Given the description of an element on the screen output the (x, y) to click on. 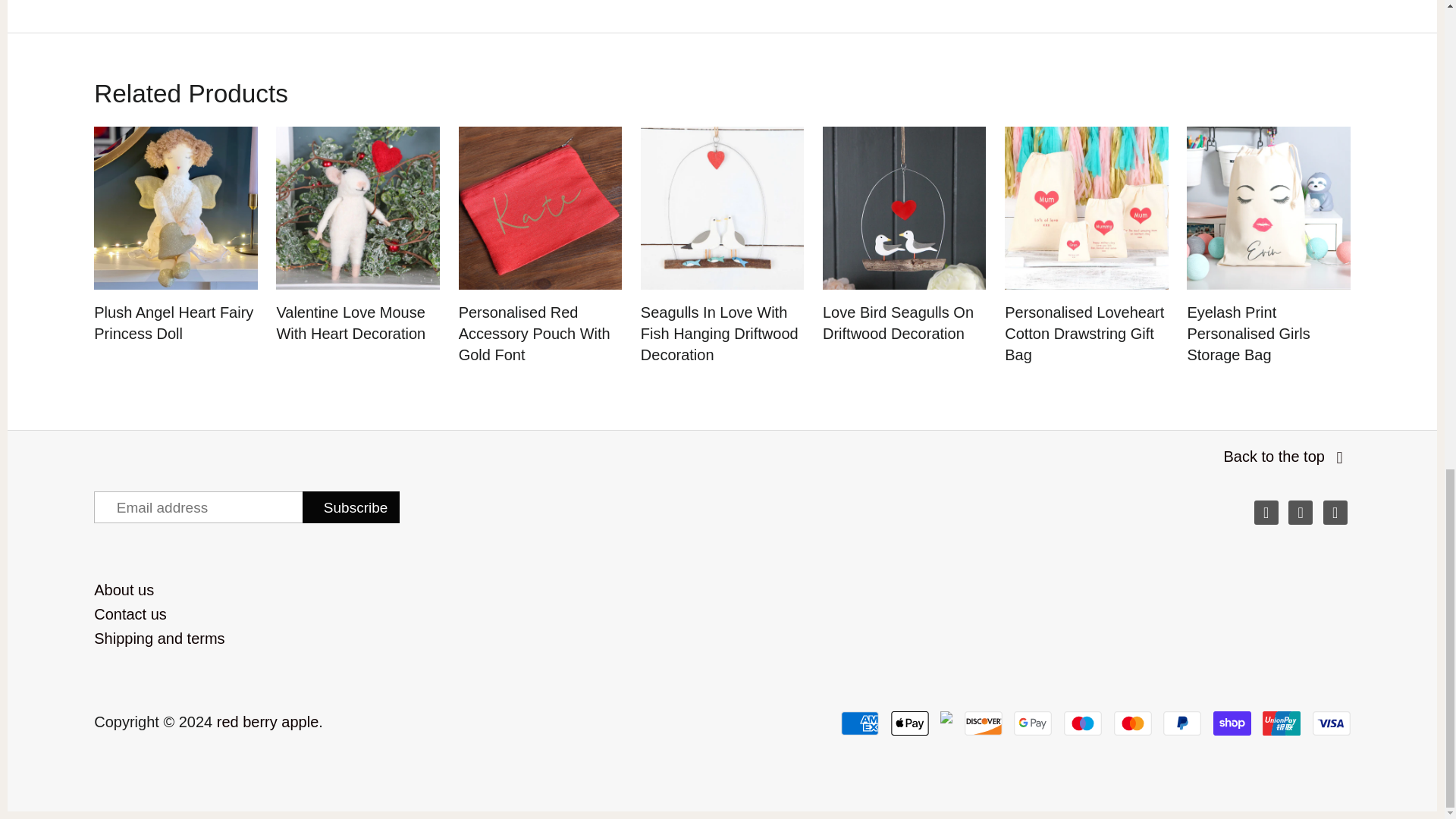
Valentine Love Mouse With Heart Decoration (357, 207)
Subscribe (350, 507)
Seagulls In Love With Fish Hanging Driftwood Decoration (721, 207)
Personalised Red Accessory Pouch With Gold Font (539, 207)
Plush Angel Heart Fairy Princess Doll (175, 207)
